Given the description of an element on the screen output the (x, y) to click on. 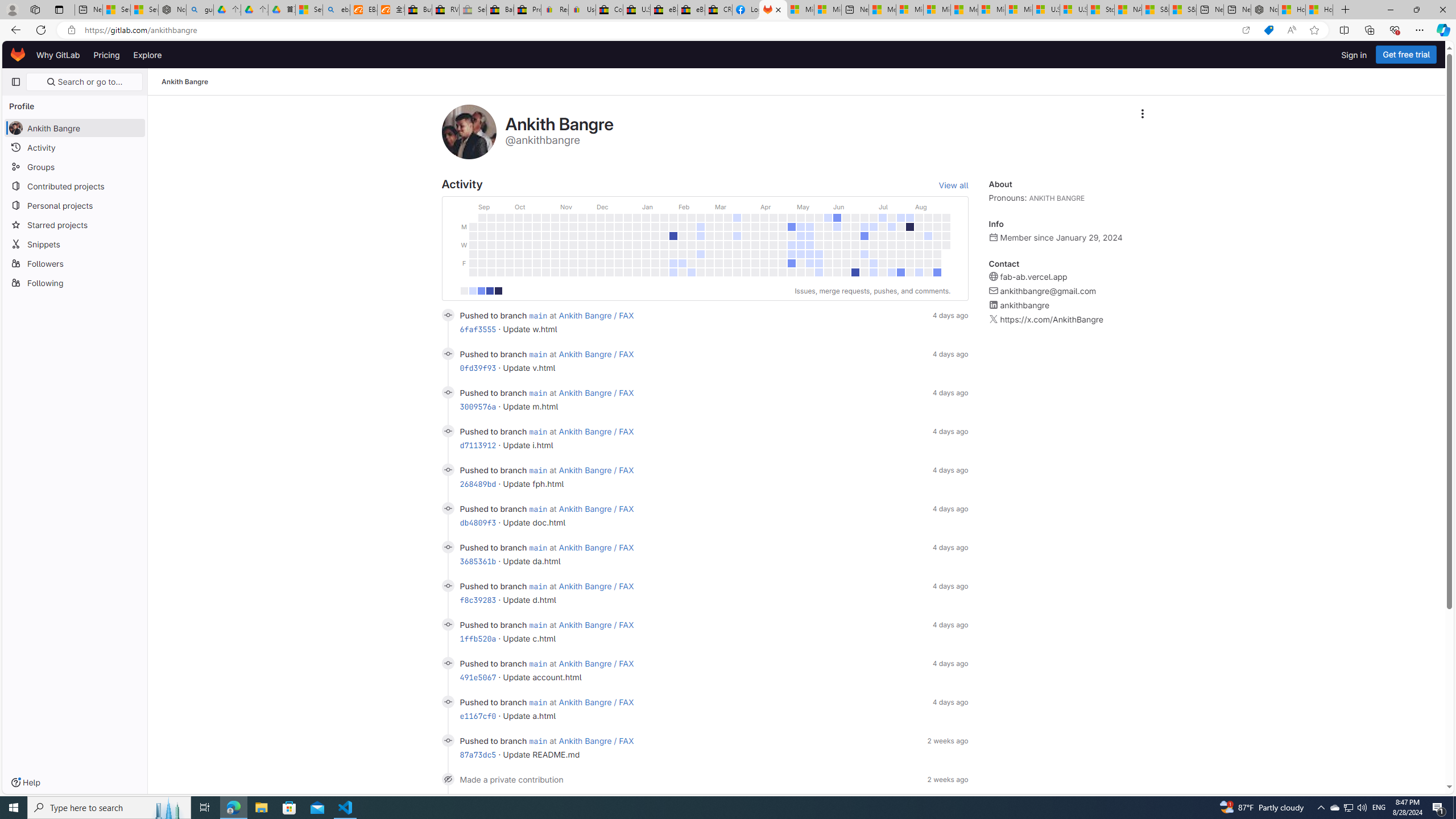
1-9 contributions (472, 290)
Shopping in Microsoft Edge (1268, 29)
U.S. State Privacy Disclosures - eBay Inc. (636, 9)
